Given the description of an element on the screen output the (x, y) to click on. 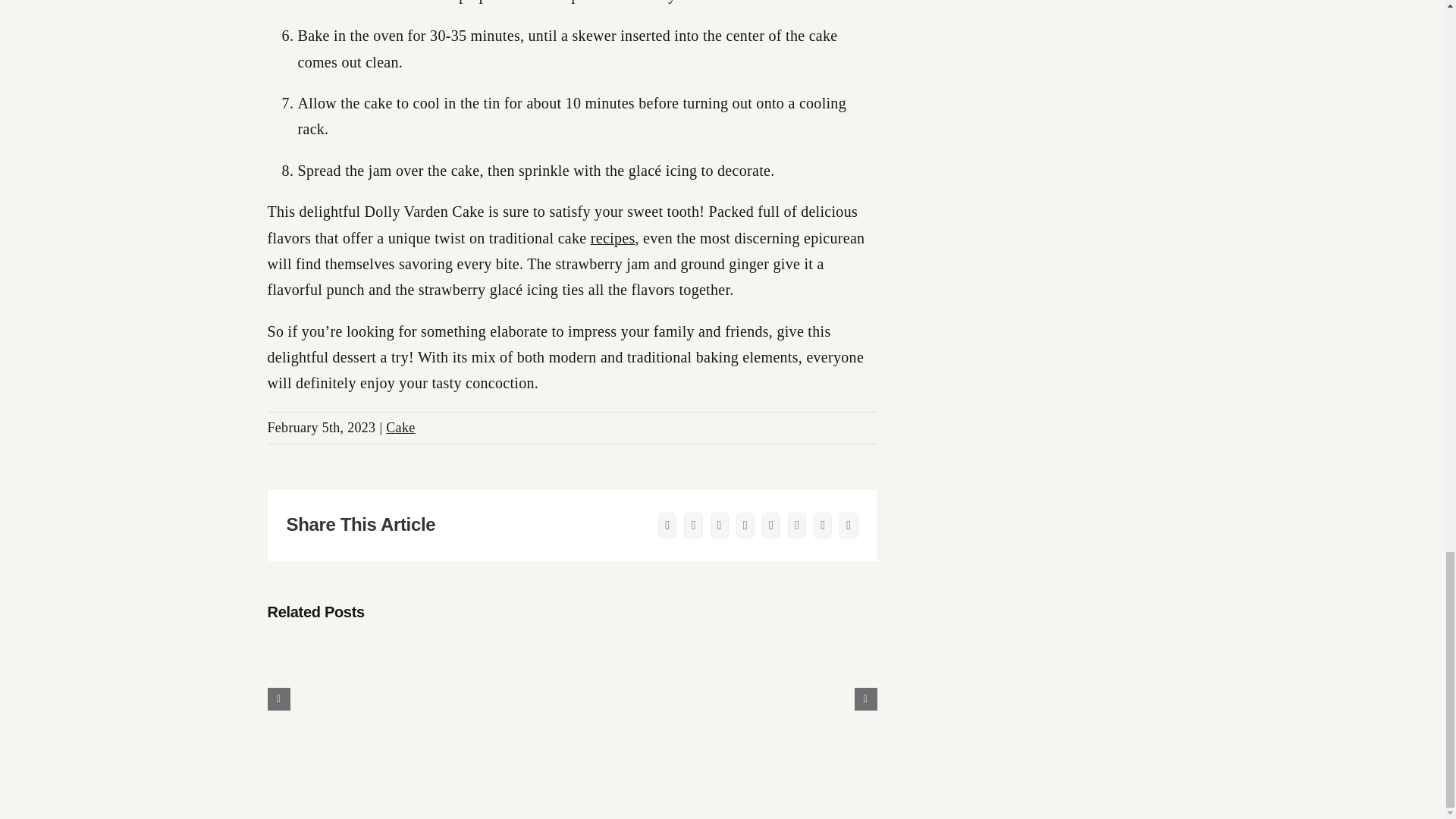
Cake (399, 427)
recipes (612, 238)
